Given the description of an element on the screen output the (x, y) to click on. 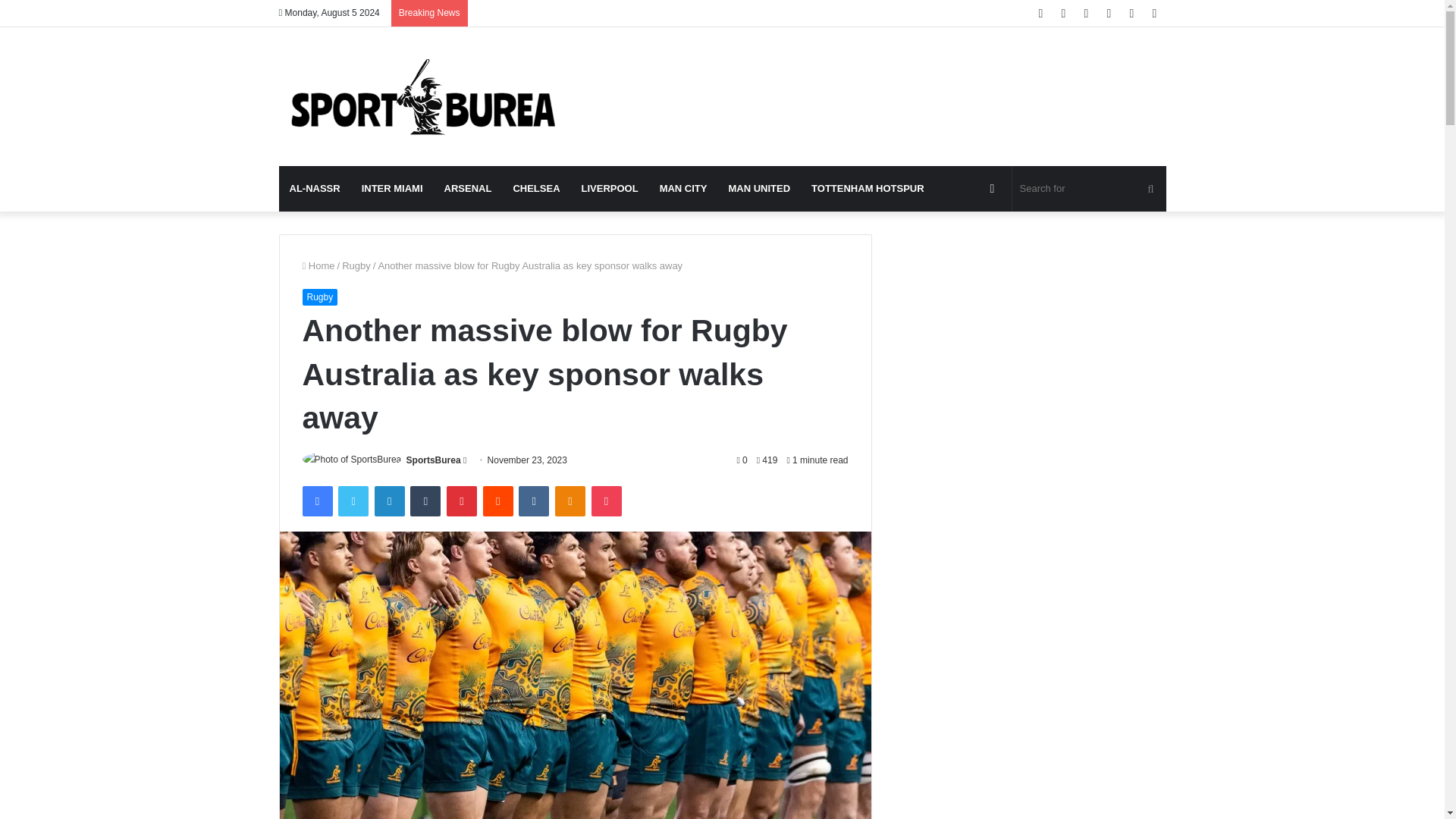
Random Article (1131, 13)
SportsBurea (433, 460)
Search for (1088, 188)
Random Article (992, 188)
CHELSEA (536, 188)
Reddit (498, 501)
Facebook (316, 501)
Tumblr (425, 501)
INTER MIAMI (391, 188)
MAN UNITED (758, 188)
LinkedIn (389, 501)
AL-NASSR (314, 188)
Random Article (992, 188)
Home (317, 265)
Twitter (1063, 13)
